Given the description of an element on the screen output the (x, y) to click on. 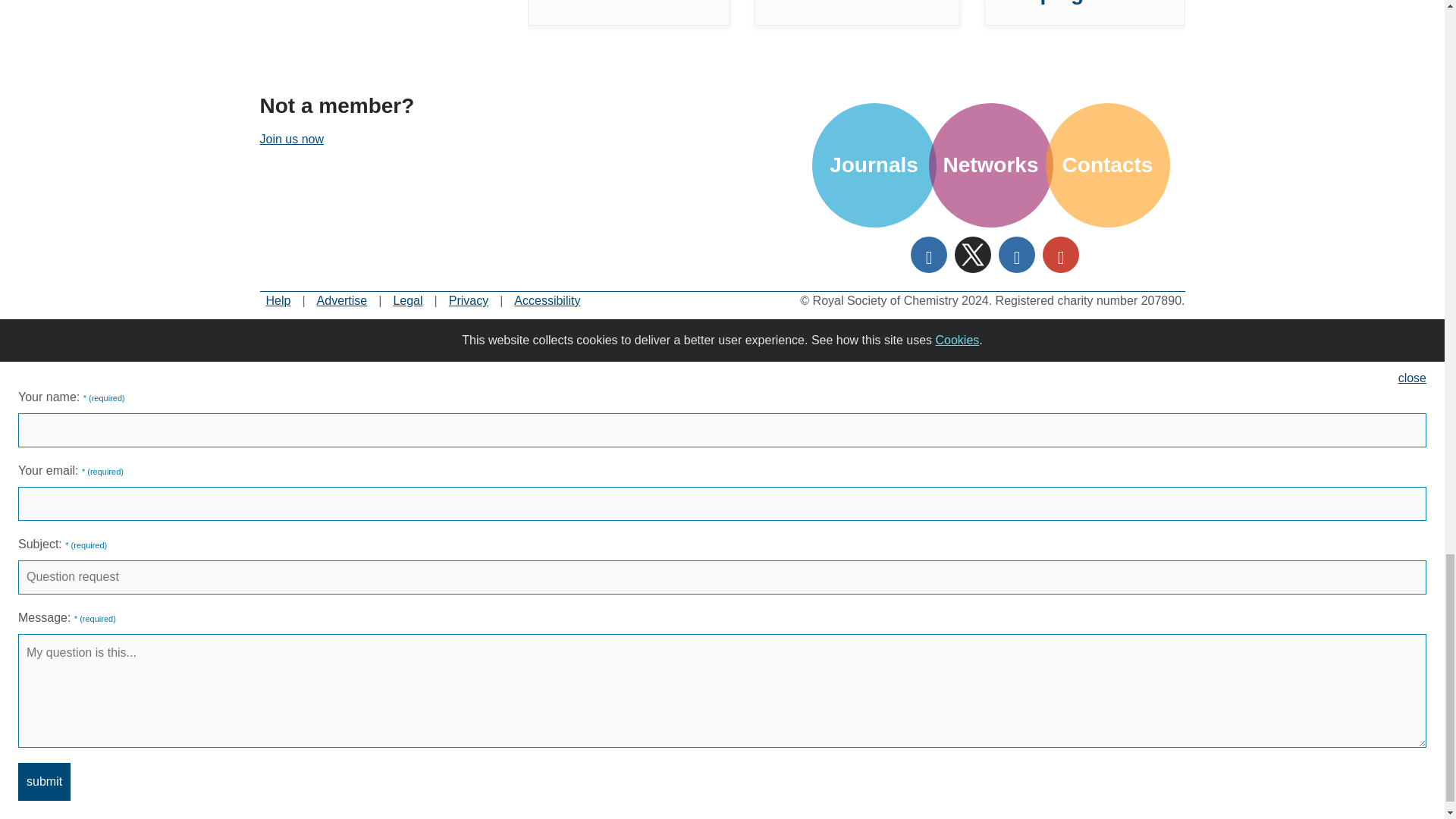
submit (43, 781)
Accessibility statement (546, 300)
Frequently asked questions (276, 300)
